Given the description of an element on the screen output the (x, y) to click on. 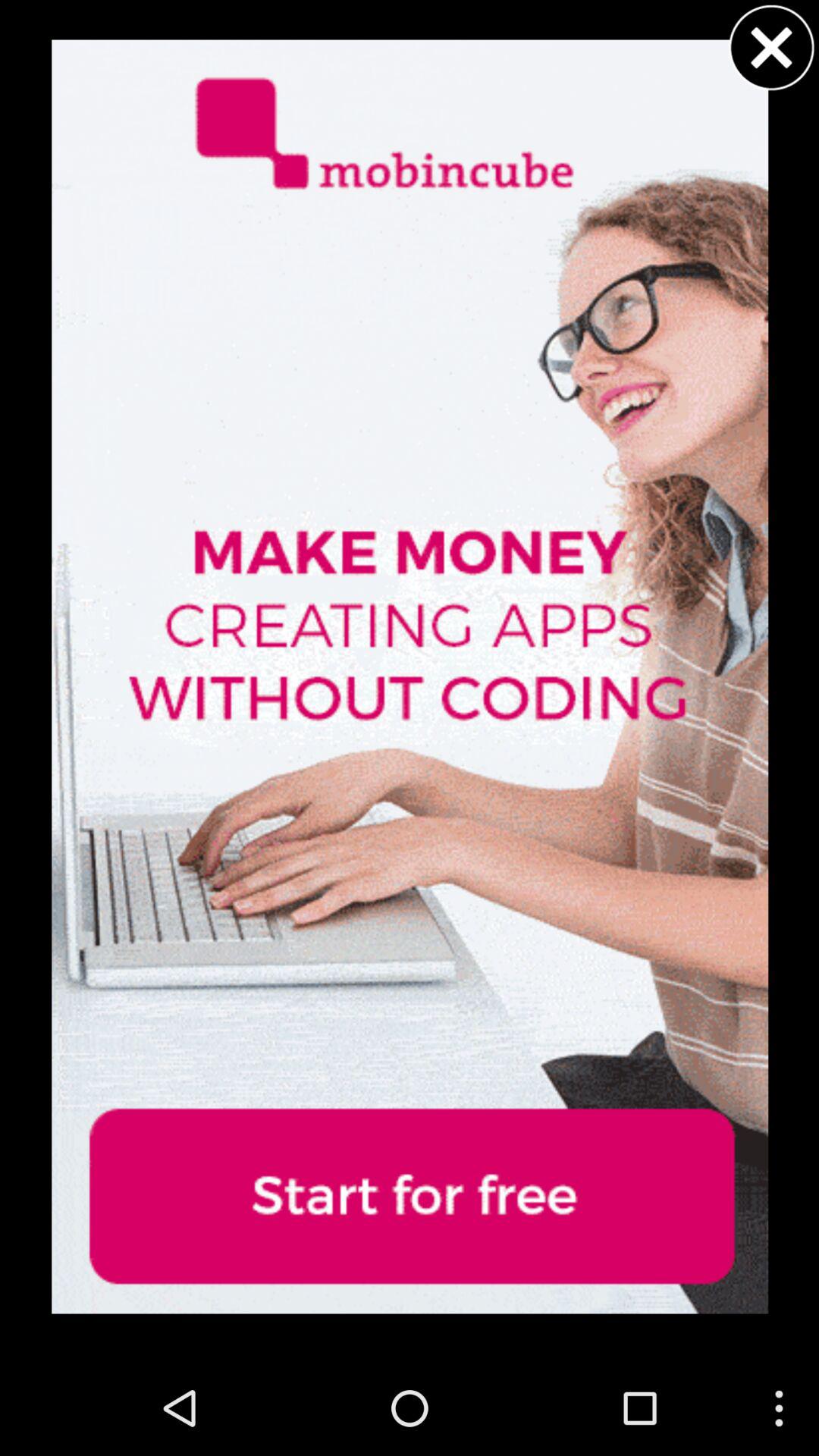
close page (771, 47)
